Given the description of an element on the screen output the (x, y) to click on. 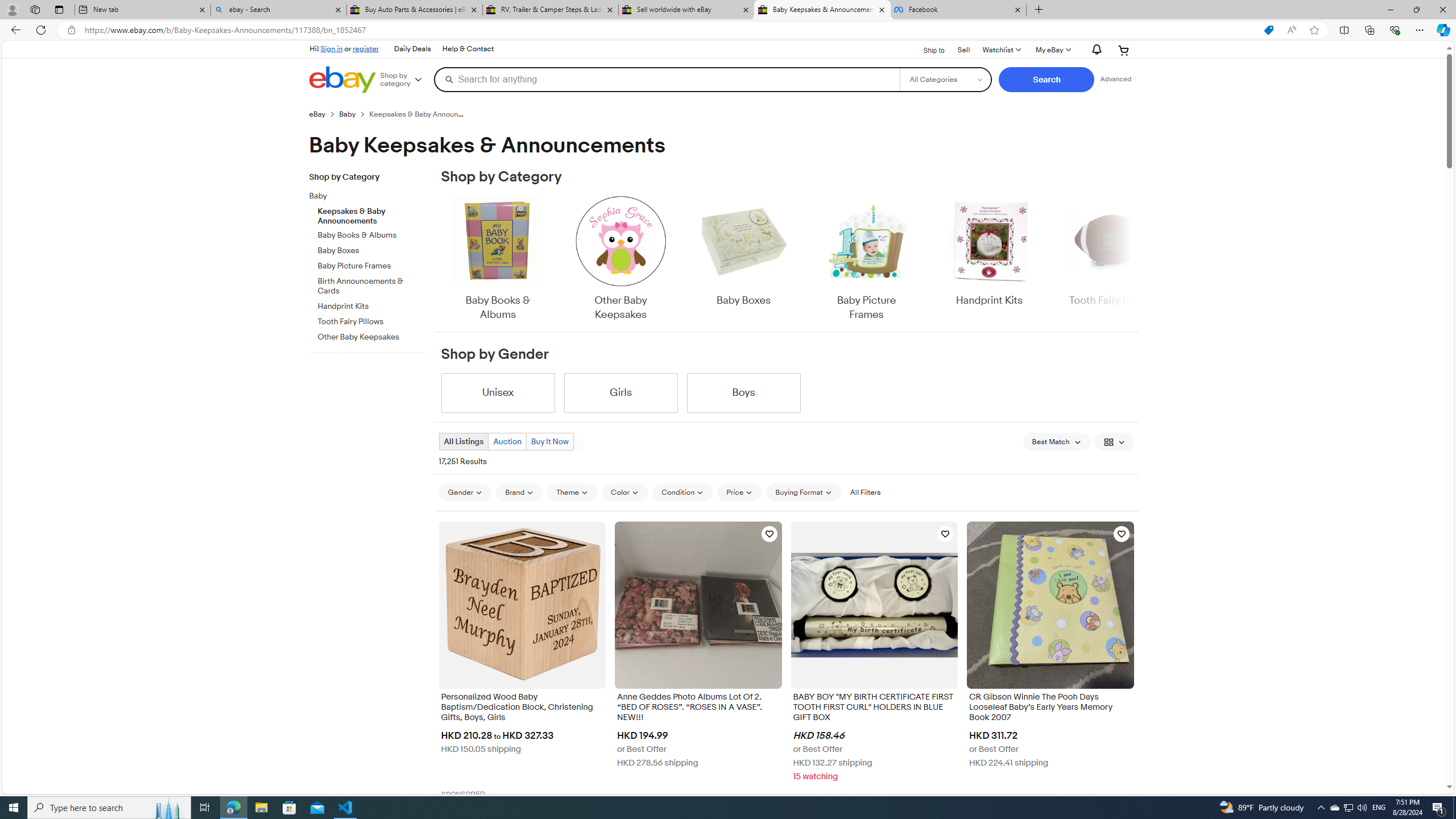
Baby Picture Frames (866, 258)
All Filters (864, 492)
My eBayExpand My eBay (1052, 49)
View: Gallery View (1114, 441)
Go to next slide (1131, 258)
Brand (519, 492)
eBay (323, 113)
Tooth Fairy Pillows (371, 321)
